Given the description of an element on the screen output the (x, y) to click on. 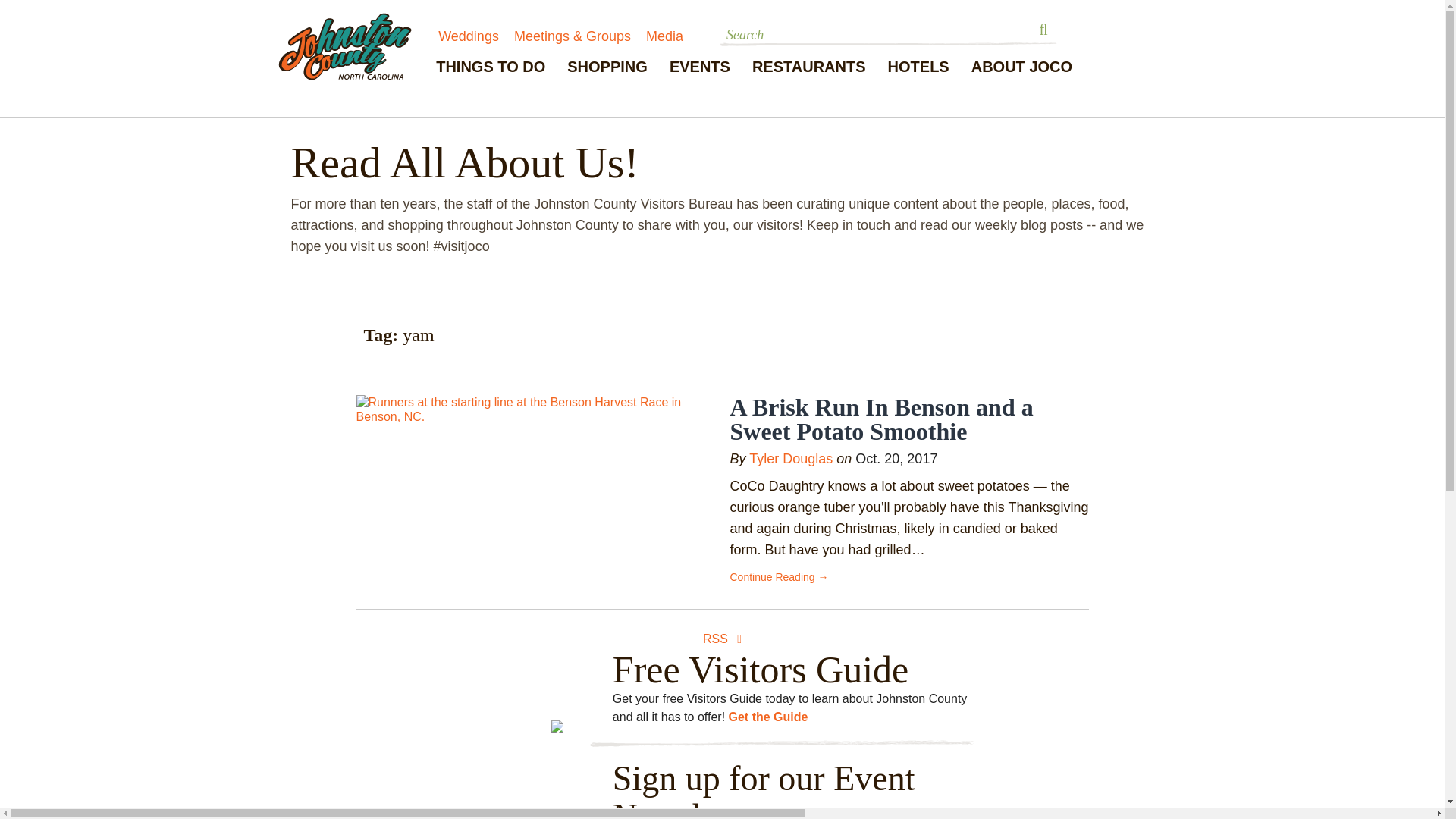
Weddings (468, 36)
Weddings (468, 36)
Media (664, 36)
Media (664, 36)
